Given the description of an element on the screen output the (x, y) to click on. 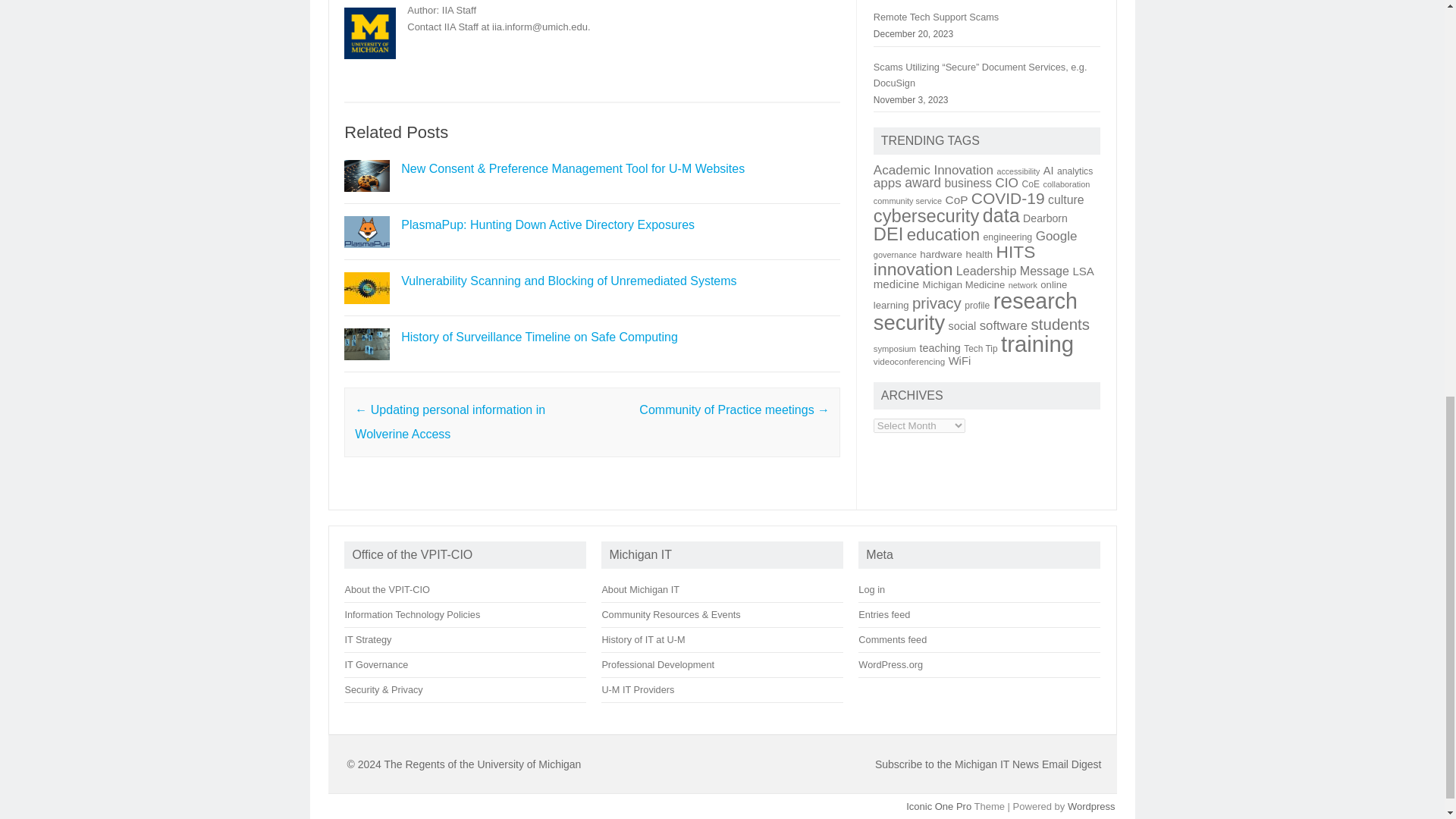
Vulnerability Scanning and Blocking of Unremediated Systems (366, 309)
History of Surveillance Timeline on Safe Computing (539, 336)
PlasmaPup: Hunting Down Active Directory Exposures (547, 224)
PlasmaPup: Hunting Down Active Directory Exposures (547, 224)
PlasmaPup: Hunting Down Active Directory Exposures (366, 254)
History of Surveillance Timeline on Safe Computing (539, 336)
Vulnerability Scanning and Blocking of Unremediated Systems (568, 280)
History of Surveillance Timeline on Safe Computing (366, 366)
Vulnerability Scanning and Blocking of Unremediated Systems (568, 280)
